Given the description of an element on the screen output the (x, y) to click on. 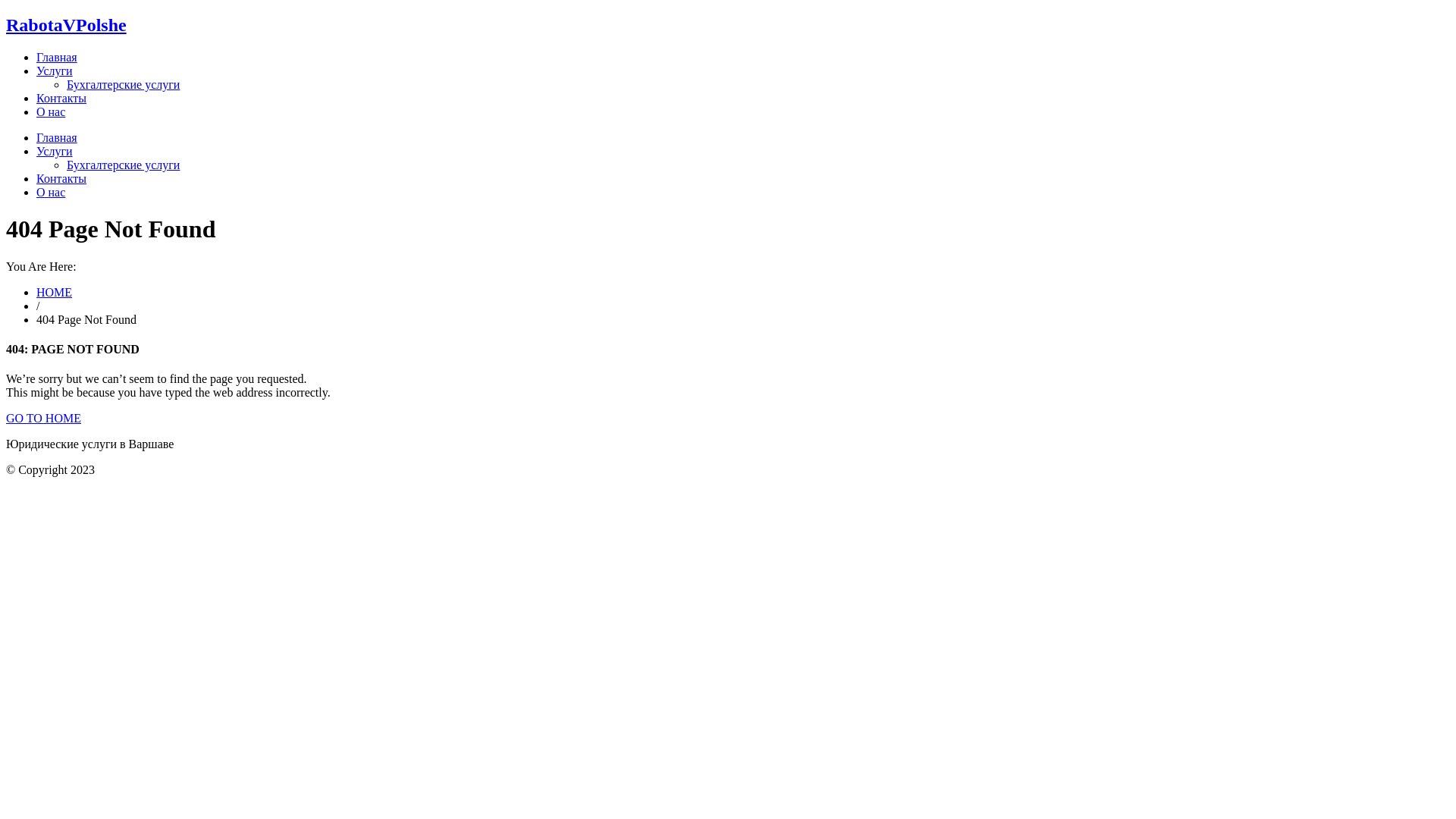
HOME Element type: text (54, 291)
GO TO HOME Element type: text (43, 417)
RabotaVPolshe Element type: text (66, 24)
